Given the description of an element on the screen output the (x, y) to click on. 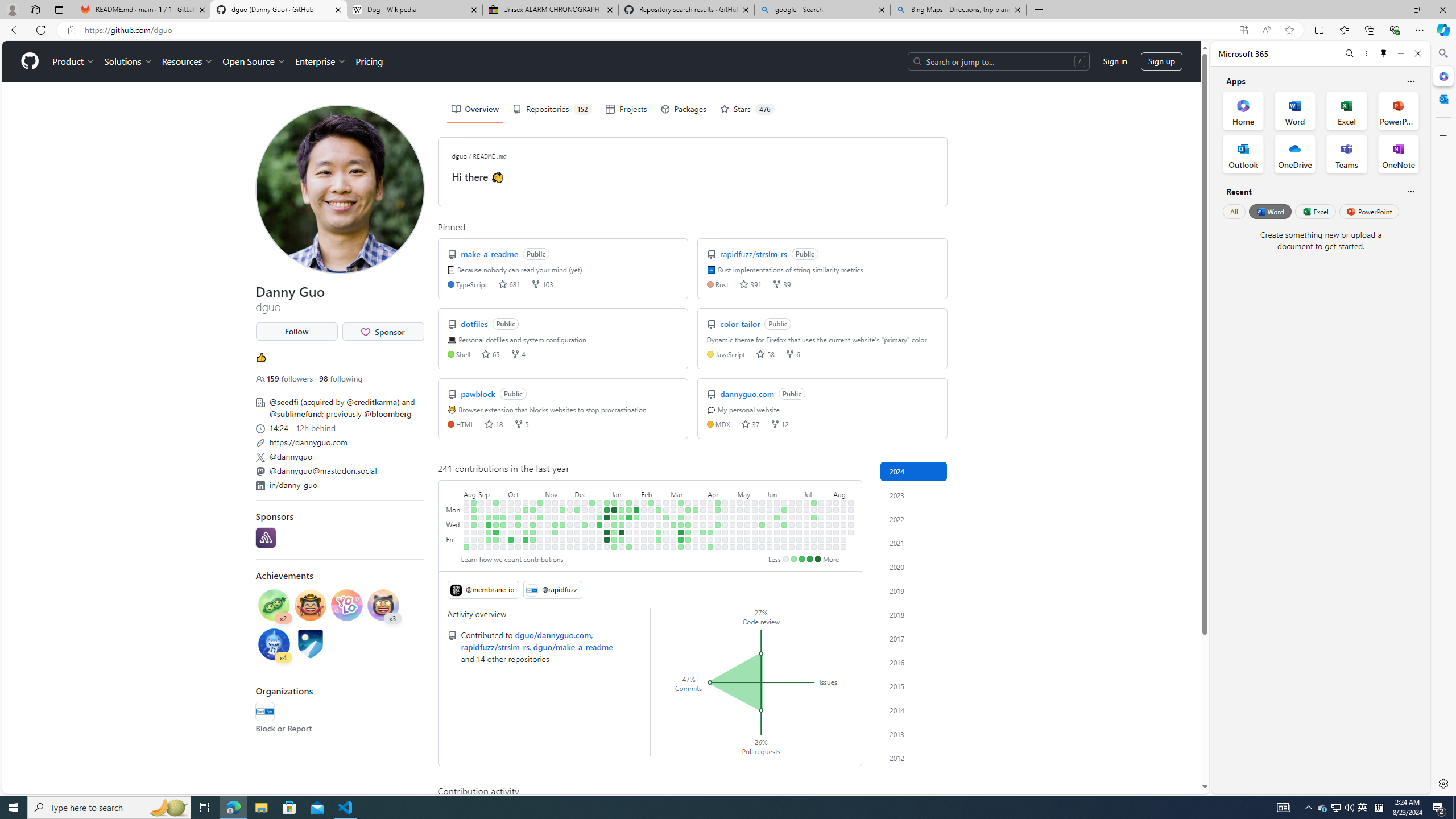
Open Source (254, 60)
Achievement: Quickdraw (310, 606)
Follow (295, 331)
No contributions on January 20th. (621, 546)
February (654, 492)
No contributions on September 1st. (473, 539)
dguo/dannyguo.com (553, 634)
rapidfuzz (263, 711)
No contributions on September 25th. (503, 509)
Contribution activity in 2017 (913, 638)
No contributions on December 11th. (585, 509)
13 contributions on January 8th. (614, 509)
No contributions on June 26th. (791, 524)
Contribution activity in 2022 (913, 519)
LinkedIn (259, 485)
